Given the description of an element on the screen output the (x, y) to click on. 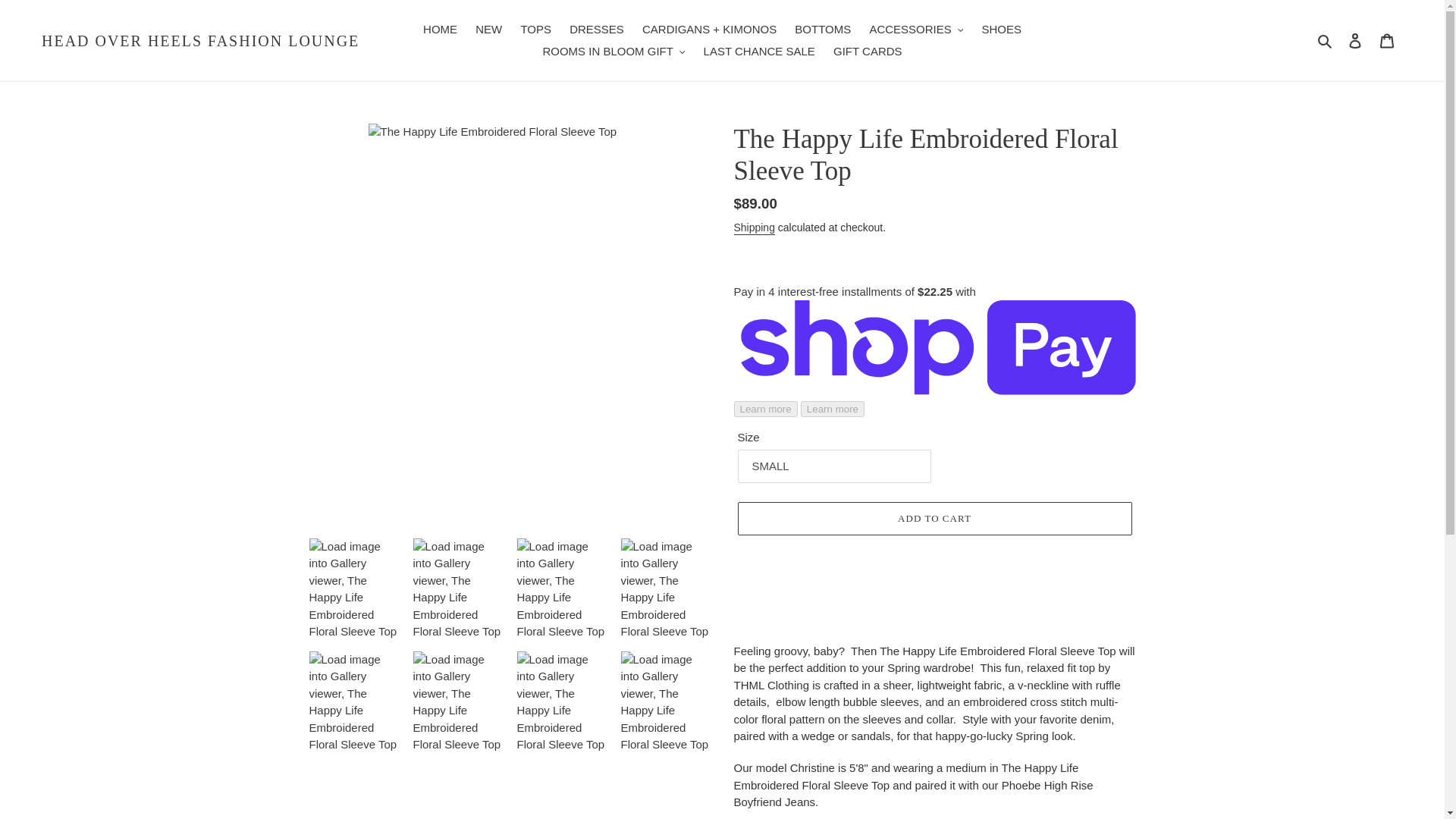
Search (1326, 40)
LAST CHANCE SALE (758, 51)
ACCESSORIES (916, 29)
SHOES (1001, 29)
DRESSES (596, 29)
BOTTOMS (823, 29)
Log in (1355, 40)
HEAD OVER HEELS FASHION LOUNGE (200, 40)
NEW (488, 29)
ROOMS IN BLOOM GIFT (613, 51)
